Given the description of an element on the screen output the (x, y) to click on. 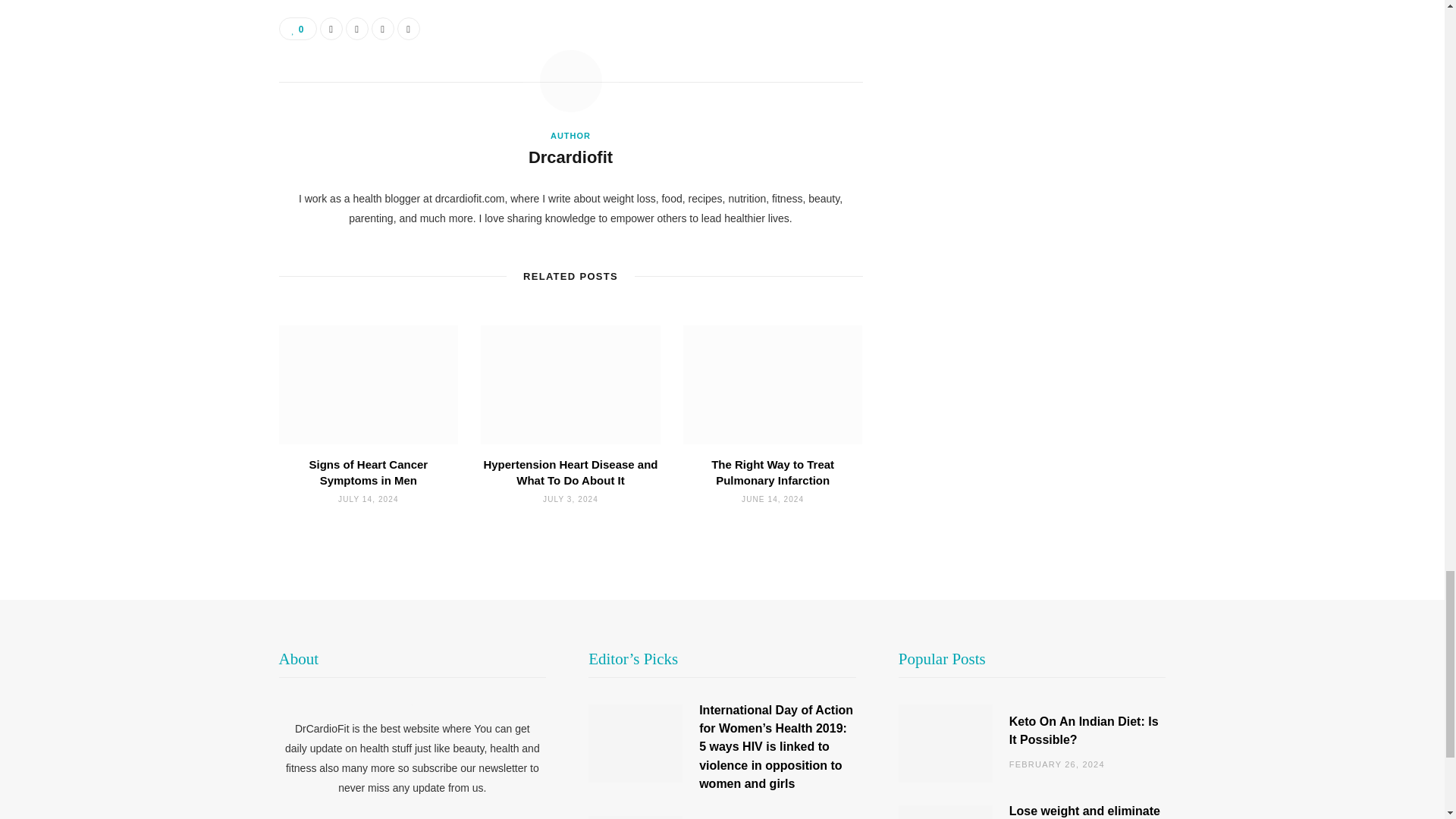
Posts by Drcardiofit (570, 157)
Email (408, 28)
Share on Twitter (357, 28)
Pinterest (382, 28)
Share on Facebook (331, 28)
